Given the description of an element on the screen output the (x, y) to click on. 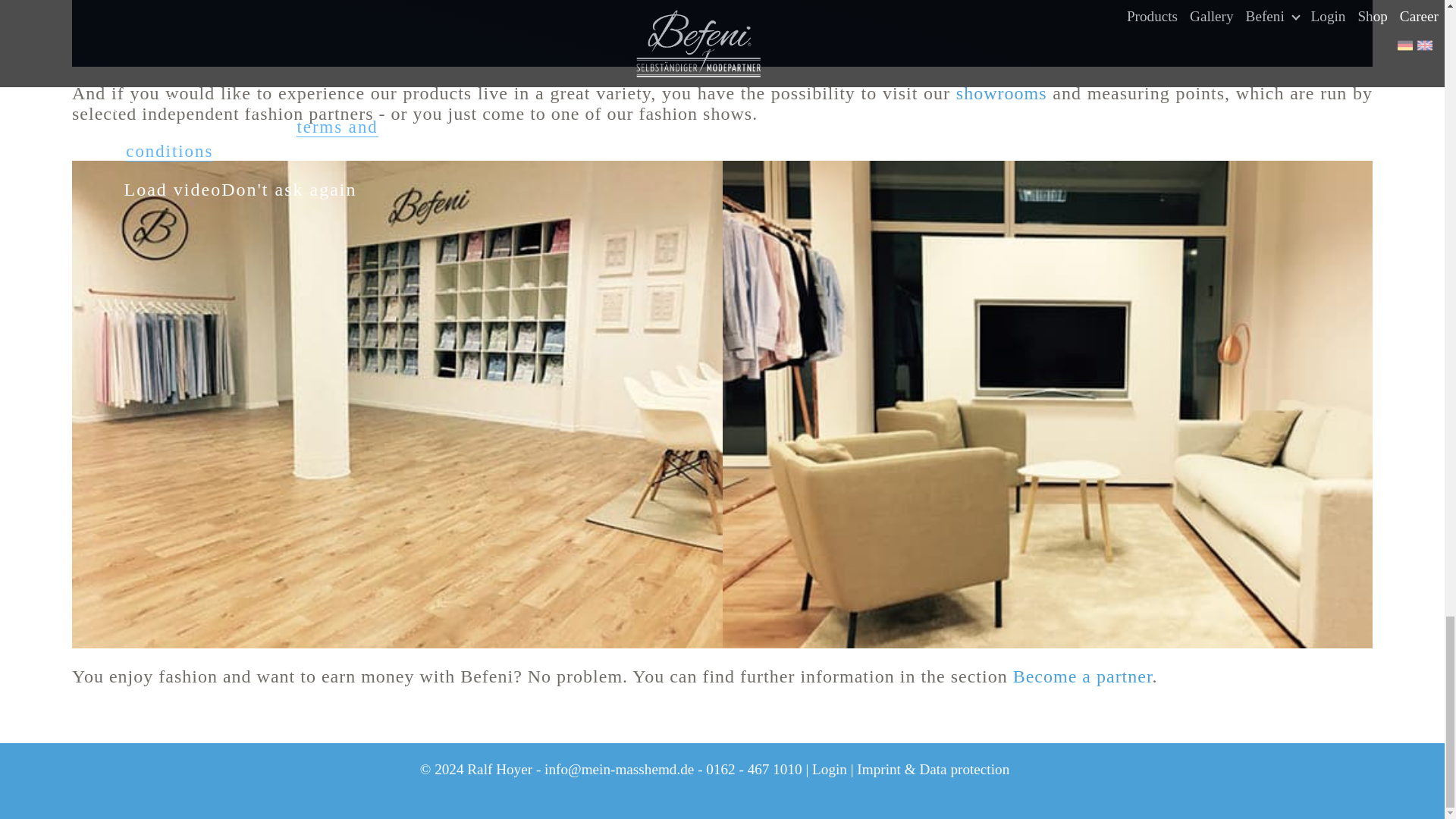
Become a partner (1083, 676)
Terms and conditions (251, 139)
Load video (172, 189)
showrooms (1001, 93)
terms and conditions (251, 139)
Login (829, 769)
Don't ask again (288, 189)
